Given the description of an element on the screen output the (x, y) to click on. 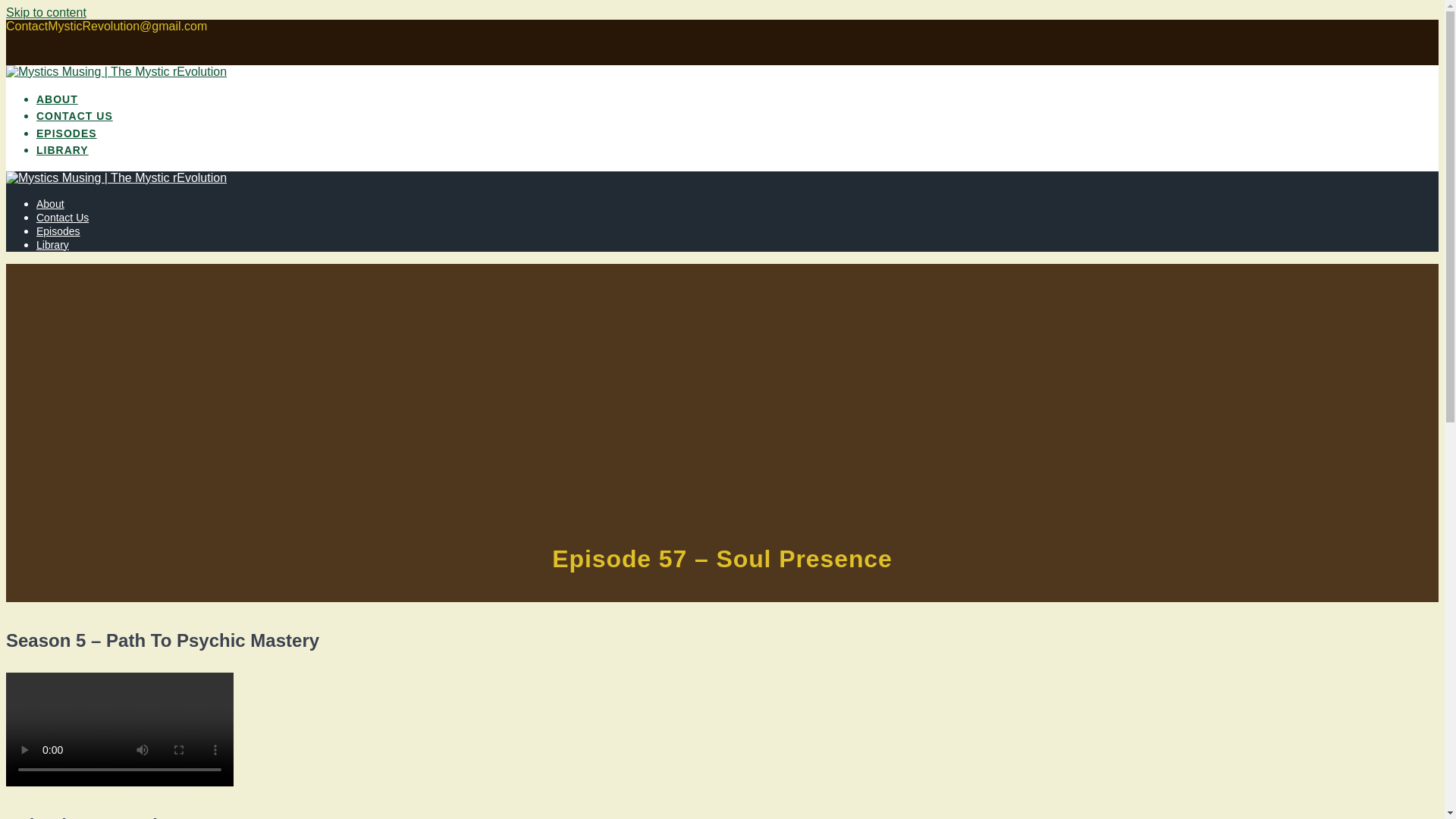
EPISODES (66, 134)
CONTACT US (74, 116)
Skip to content (45, 11)
LIBRARY (62, 151)
Contact Us (62, 217)
Episodes (58, 231)
About (50, 203)
ABOUT (57, 100)
Library (52, 244)
